Given the description of an element on the screen output the (x, y) to click on. 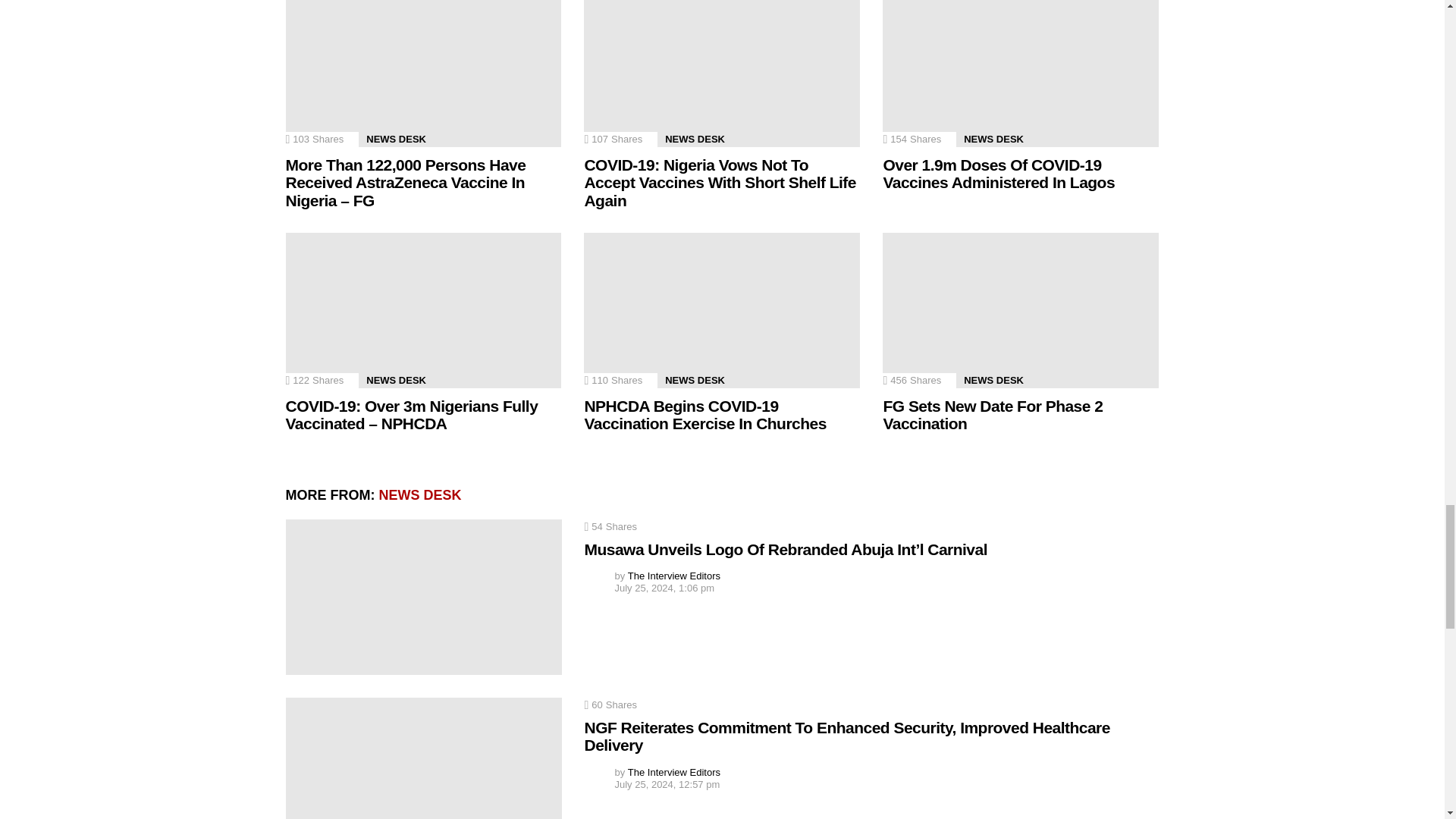
FG Sets New Date For Phase 2 Vaccination (1020, 310)
NPHCDA Begins COVID-19 Vaccination Exercise In Churches (721, 310)
Over 1.9m Doses Of COVID-19 Vaccines Administered In Lagos (1020, 73)
Posts by The Interview Editors (673, 575)
Posts by The Interview Editors (673, 772)
